Given the description of an element on the screen output the (x, y) to click on. 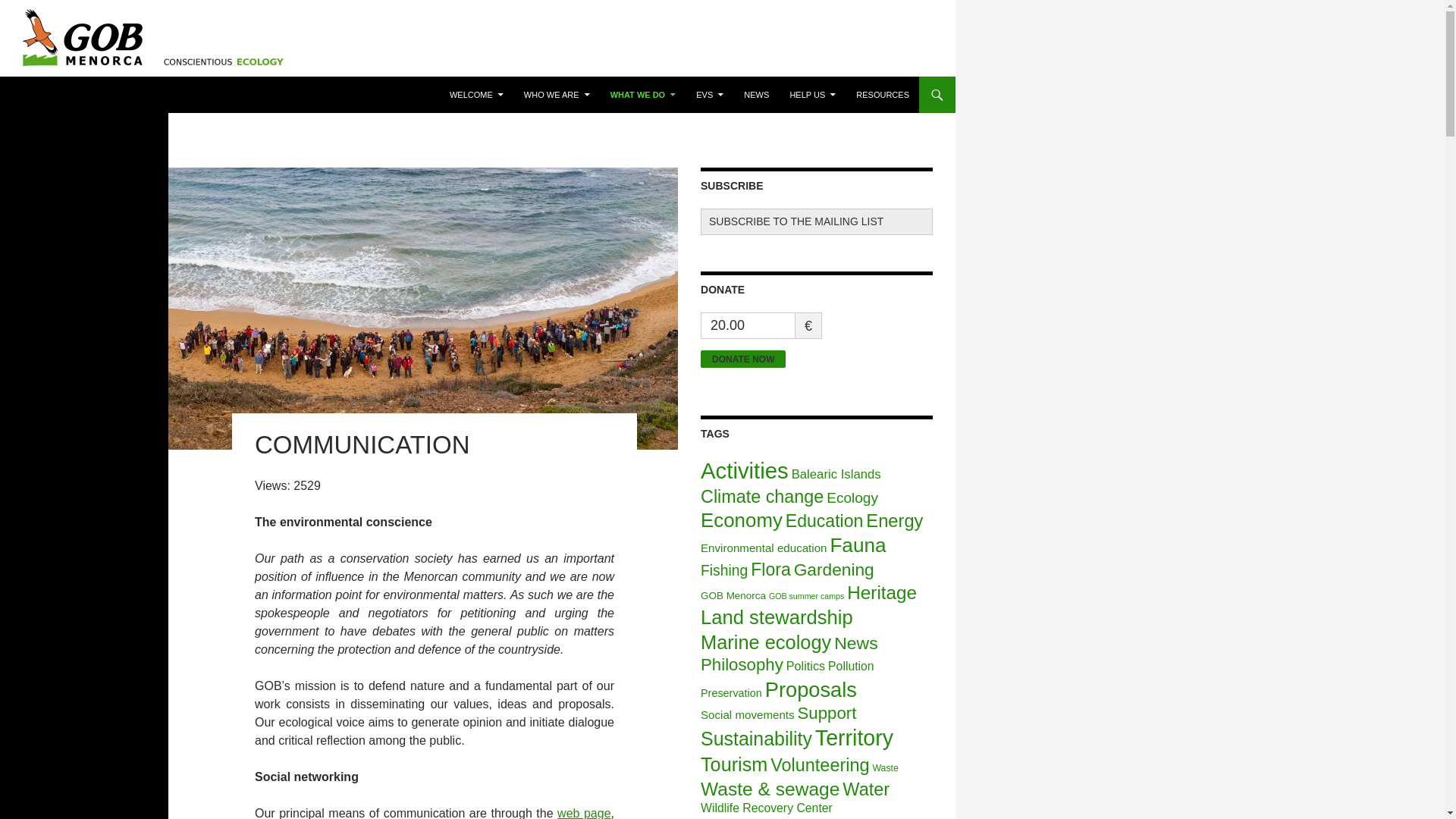
WELCOME (476, 94)
RESOURCES (882, 94)
HELP US (812, 94)
EVS (709, 94)
WHAT WE DO (643, 94)
WHO WE ARE (556, 94)
GOB Menorca (68, 94)
20.00 (747, 325)
web page (583, 812)
